Given the description of an element on the screen output the (x, y) to click on. 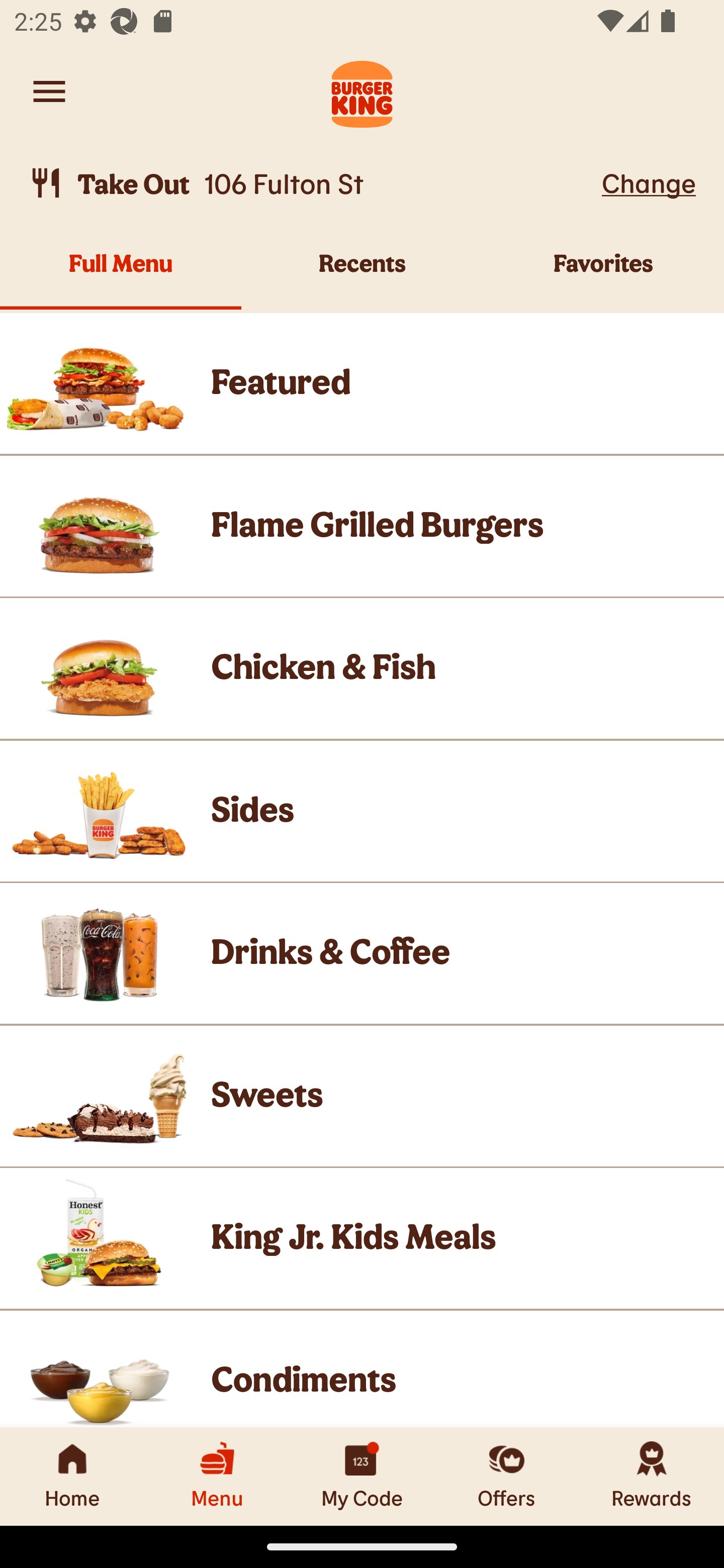
Burger King Logo. Navigate to Home (362, 91)
Navigate to account menu  (49, 91)
Take Out, 106 Fulton St  Take Out 106 Fulton St (311, 183)
Change (648, 182)
Full Menu (120, 273)
Recents (361, 273)
Favorites (603, 273)
Product Image, Featured Product Image Featured (362, 383)
Product Image, Sides Product Image Sides (362, 810)
Product Image, Sweets Product Image Sweets (362, 1095)
Product Image, Condiments Product Image Condiments (362, 1368)
Home (72, 1475)
Menu (216, 1475)
My Code (361, 1475)
Offers (506, 1475)
Rewards (651, 1475)
